Given the description of an element on the screen output the (x, y) to click on. 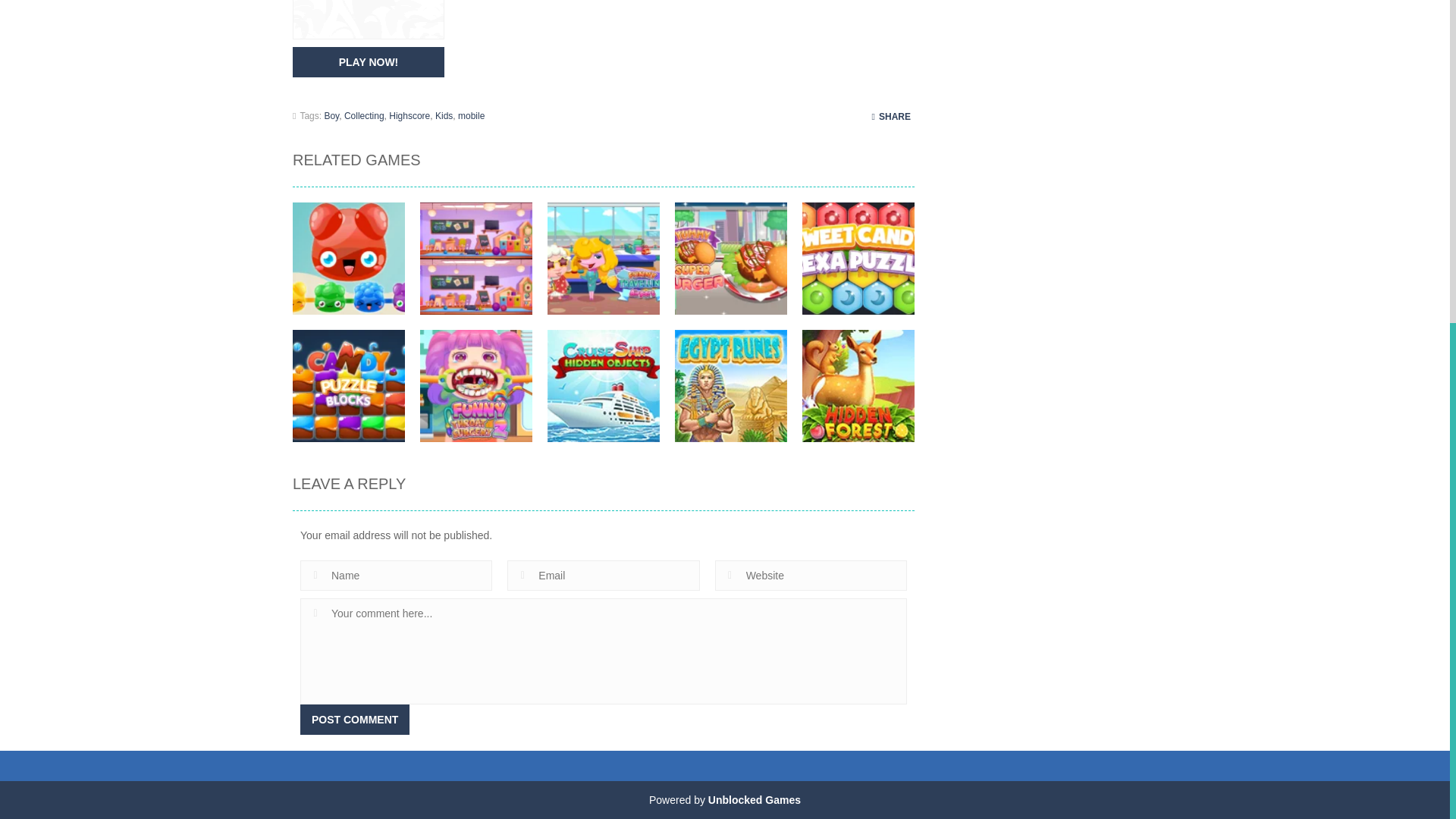
Post Comment (354, 719)
